Given the description of an element on the screen output the (x, y) to click on. 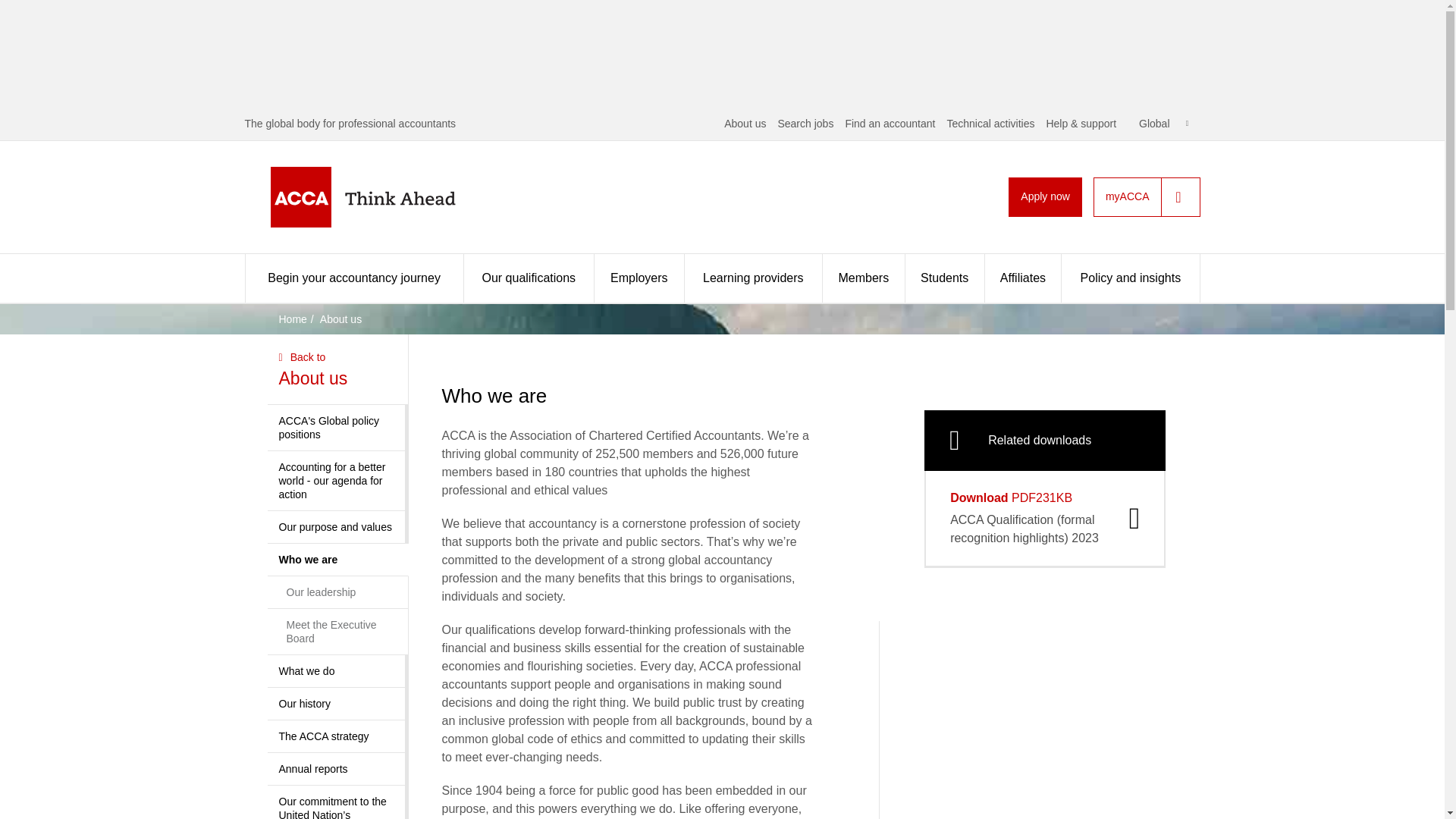
About us (744, 123)
Home (387, 197)
Search jobs (804, 123)
Find an accountant (889, 123)
Technical activities (989, 123)
Global (1162, 123)
Global (1162, 123)
